Given the description of an element on the screen output the (x, y) to click on. 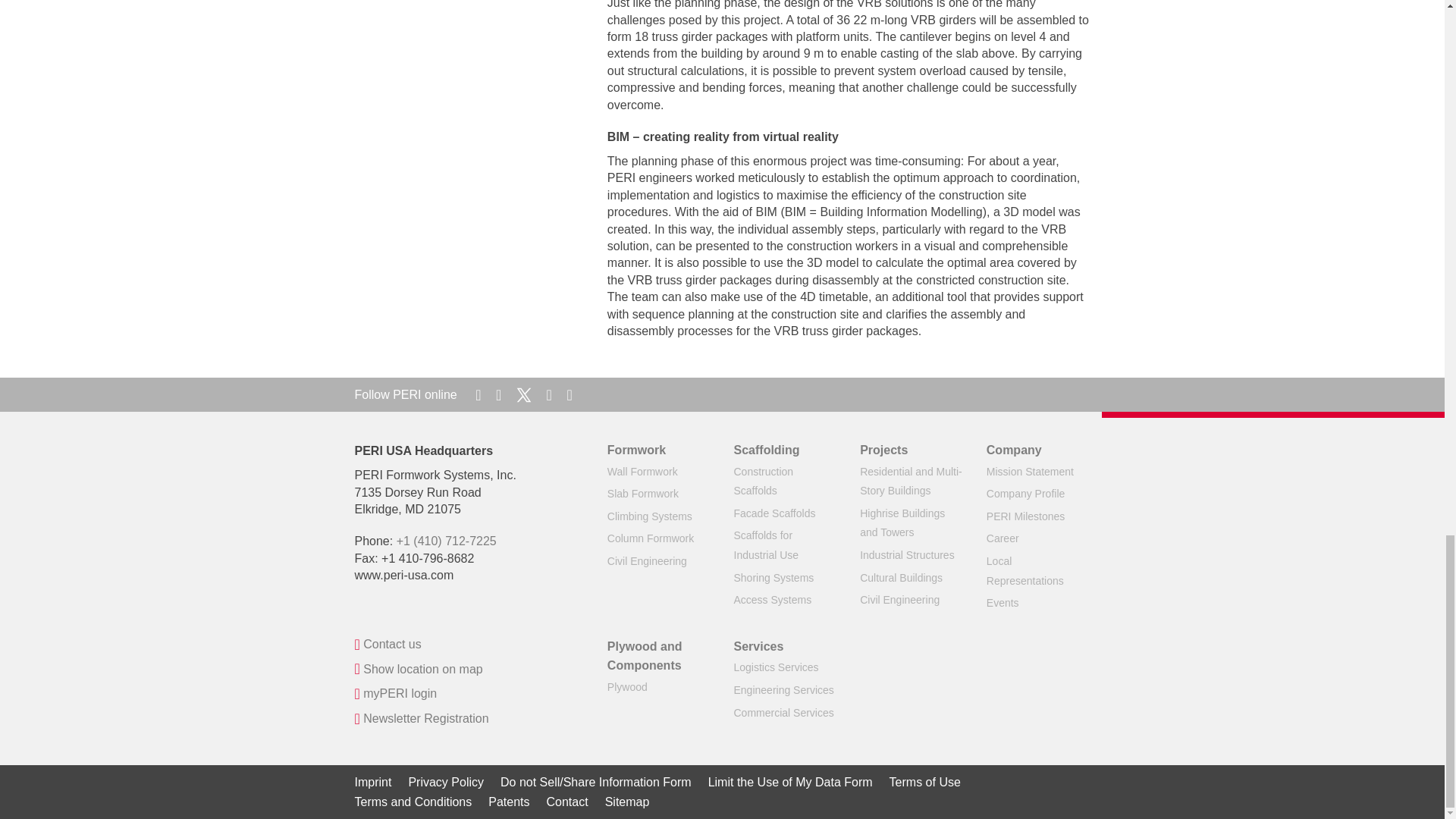
PERI at Twitter (525, 393)
PERI at Instagram (569, 393)
PERI at LinkedIn (480, 393)
PERI at Facebook (500, 393)
PERI at Youtube (551, 393)
